Given the description of an element on the screen output the (x, y) to click on. 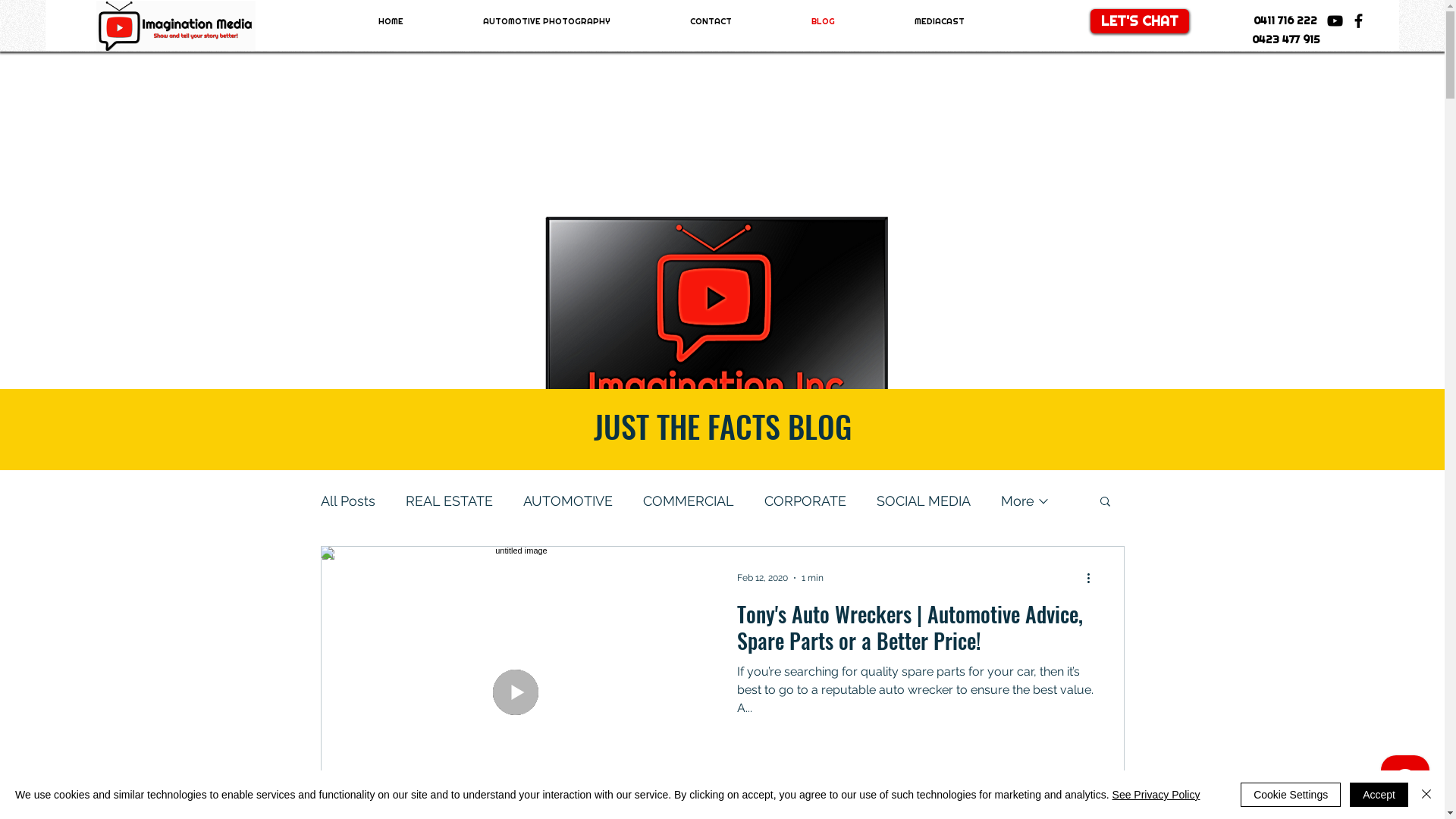
Cookie Settings Element type: text (1290, 794)
AUTOMOTIVE PHOTOGRAPHY Element type: text (546, 20)
SOCIAL MEDIA Element type: text (923, 500)
Accept Element type: text (1378, 794)
BLOG Element type: text (823, 20)
AUTOMOTIVE Element type: text (567, 500)
MEDIACAST Element type: text (939, 20)
CONTACT Element type: text (710, 20)
All Posts Element type: text (347, 500)
COMMERCIAL Element type: text (688, 500)
HOME Element type: text (390, 20)
LET'S CHAT Element type: text (1139, 21)
CORPORATE Element type: text (805, 500)
See Privacy Policy Element type: text (1156, 794)
REAL ESTATE Element type: text (448, 500)
